Given the description of an element on the screen output the (x, y) to click on. 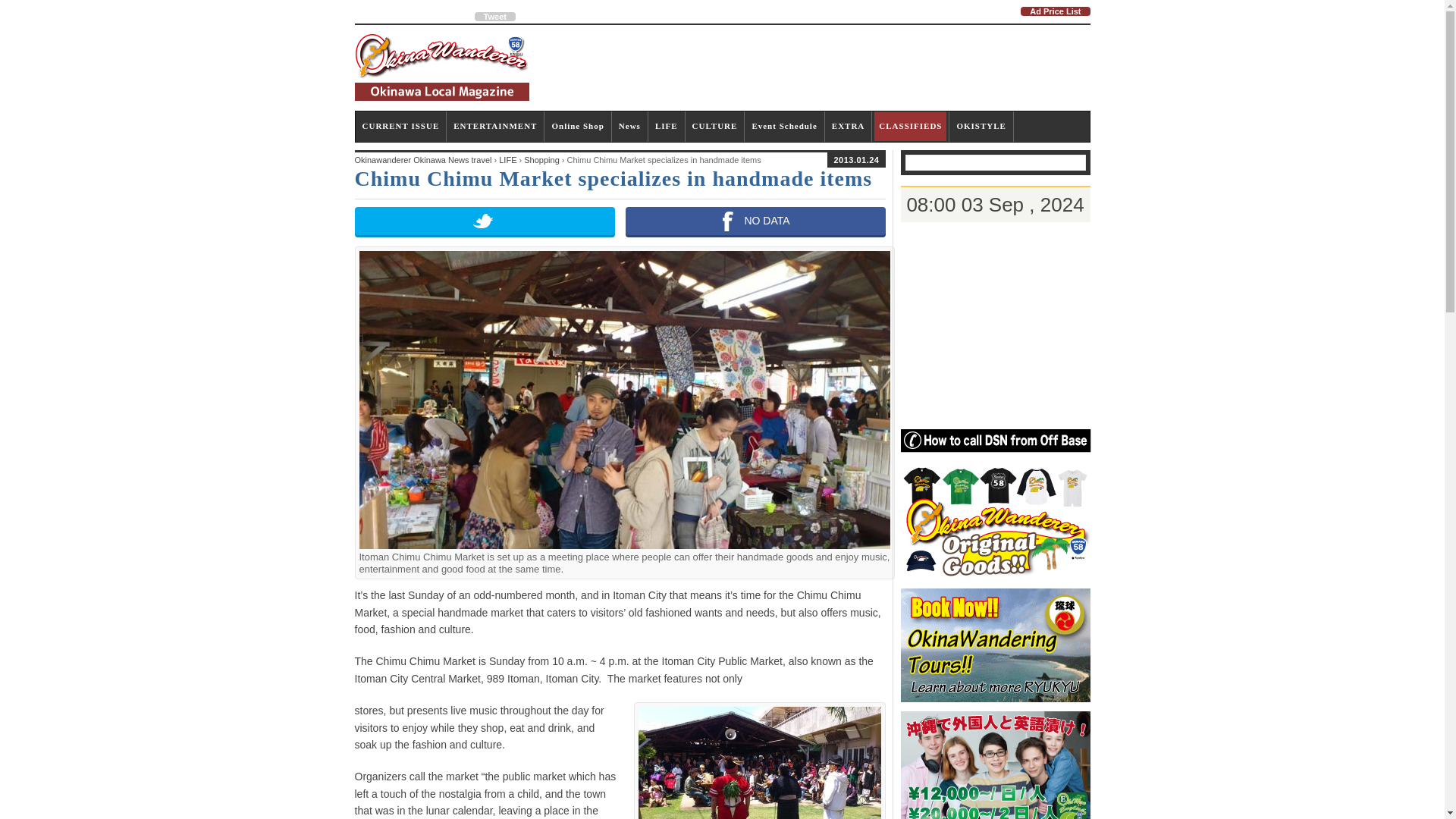
Online Shop (577, 125)
CULTURE (714, 125)
Ad Price List (1054, 10)
LIFE (666, 125)
News (629, 125)
LIFE (666, 125)
CURRENT ISSUE (401, 125)
ENTERTAINMENT (494, 125)
Tweet (494, 16)
